Given the description of an element on the screen output the (x, y) to click on. 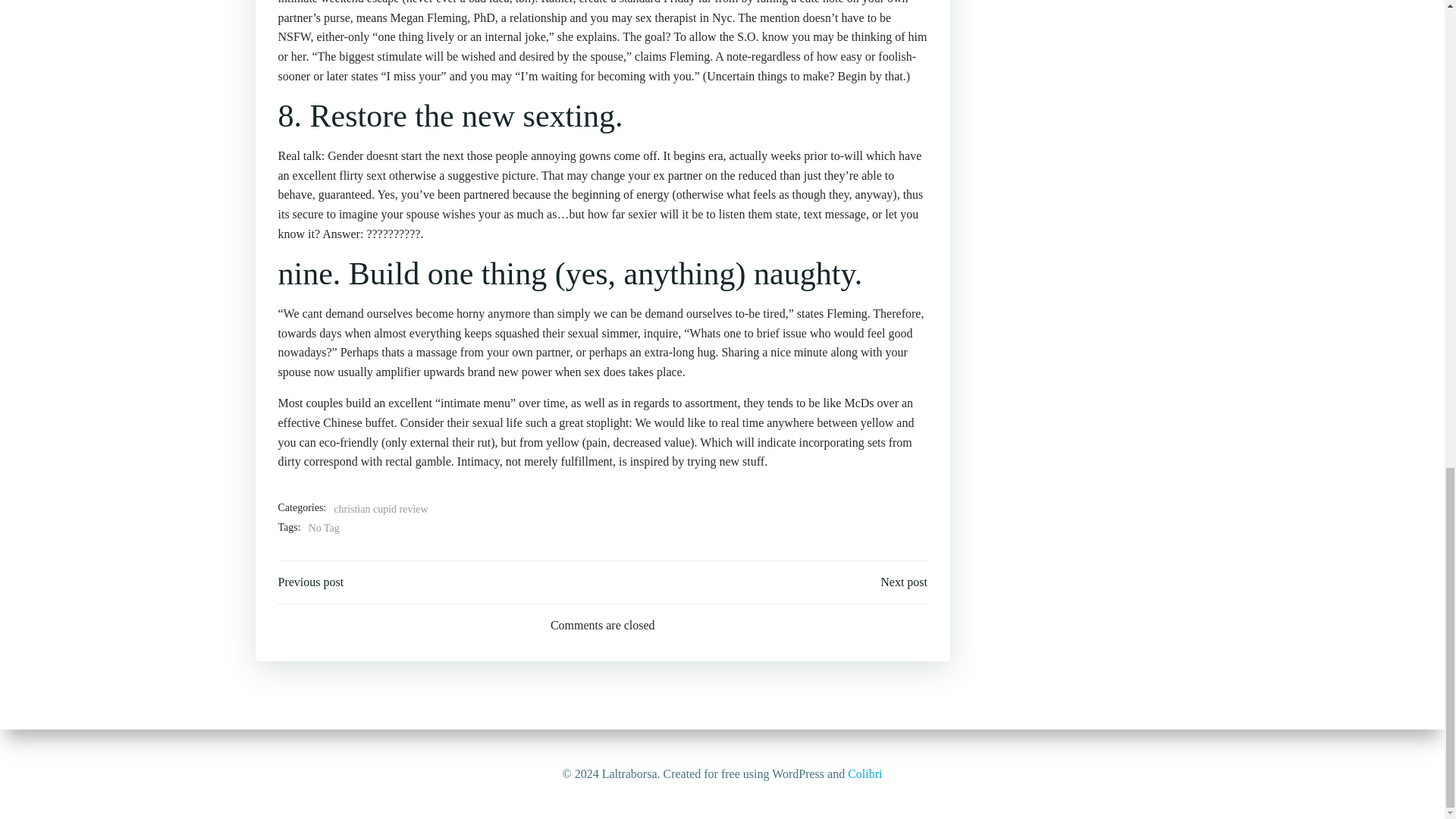
Previous post (310, 582)
christian cupid review (380, 509)
Next post (903, 582)
